Given the description of an element on the screen output the (x, y) to click on. 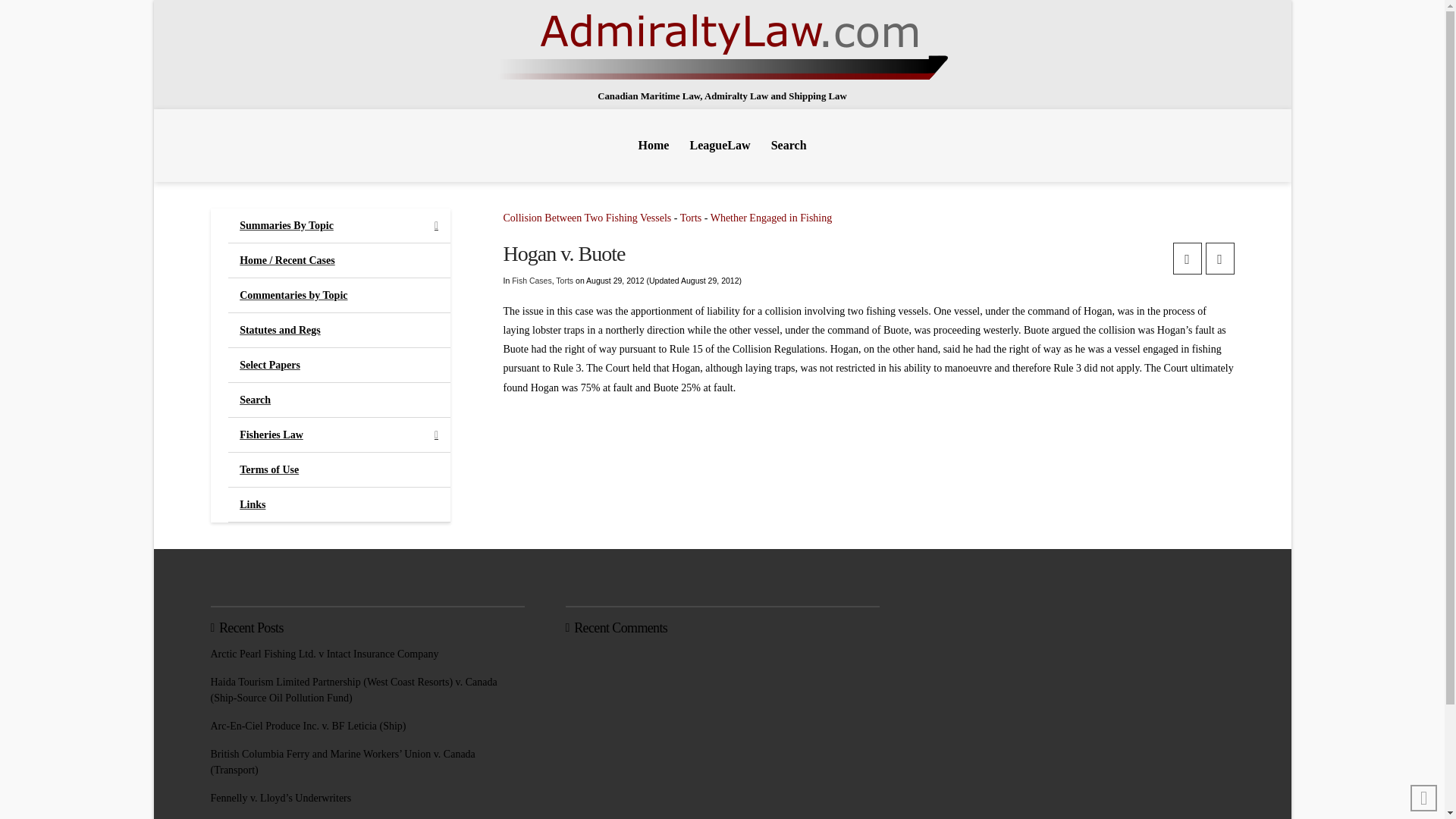
Whether Engaged in Fishing (771, 217)
Torts (564, 280)
Collision Between Two Fishing Vessels (587, 217)
Summaries By Topic (338, 225)
Fish Cases (531, 280)
Back to Top (1423, 797)
Torts (690, 217)
LeagueLaw (719, 144)
